Given the description of an element on the screen output the (x, y) to click on. 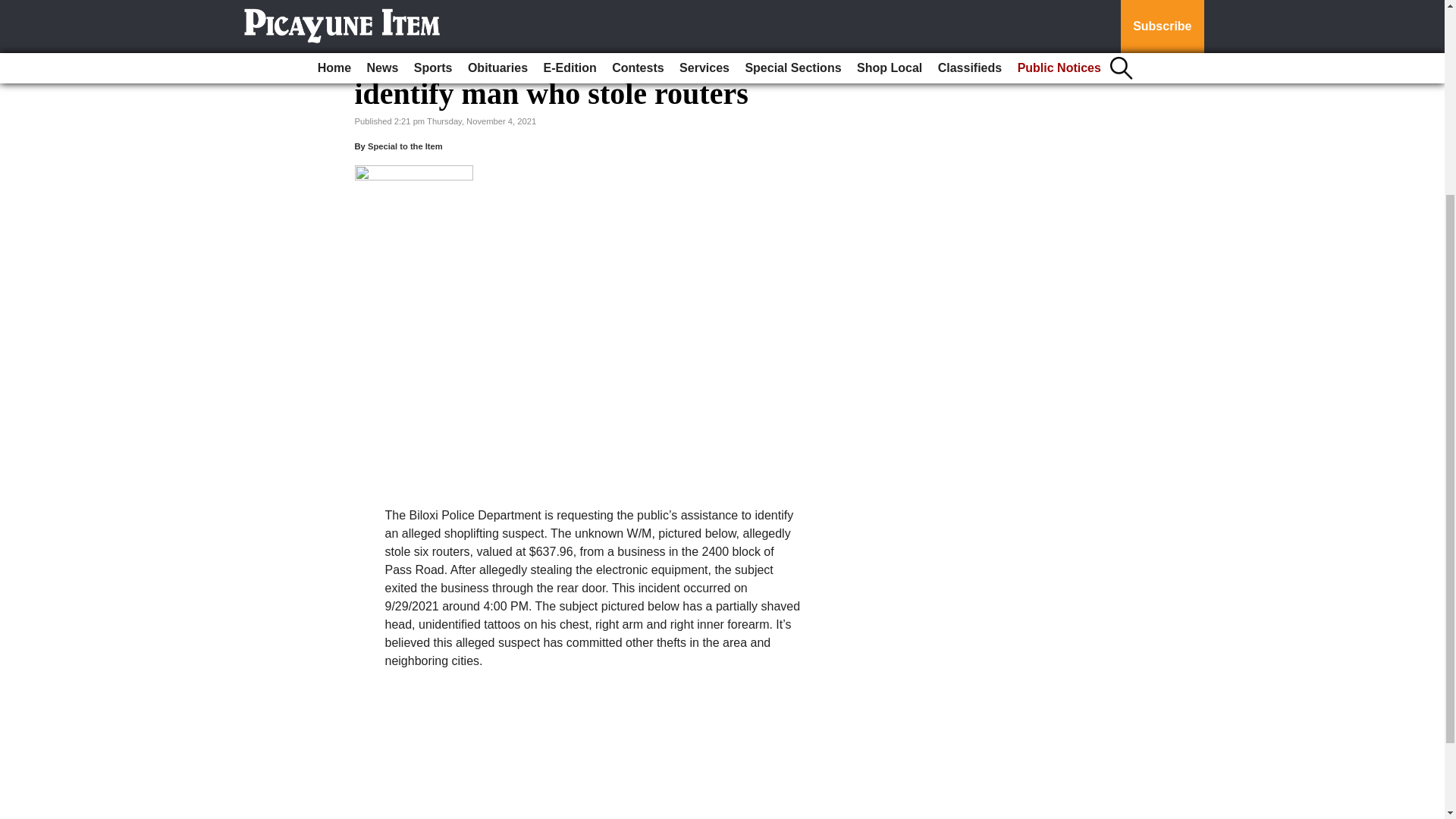
Special to the Item (405, 145)
